Given the description of an element on the screen output the (x, y) to click on. 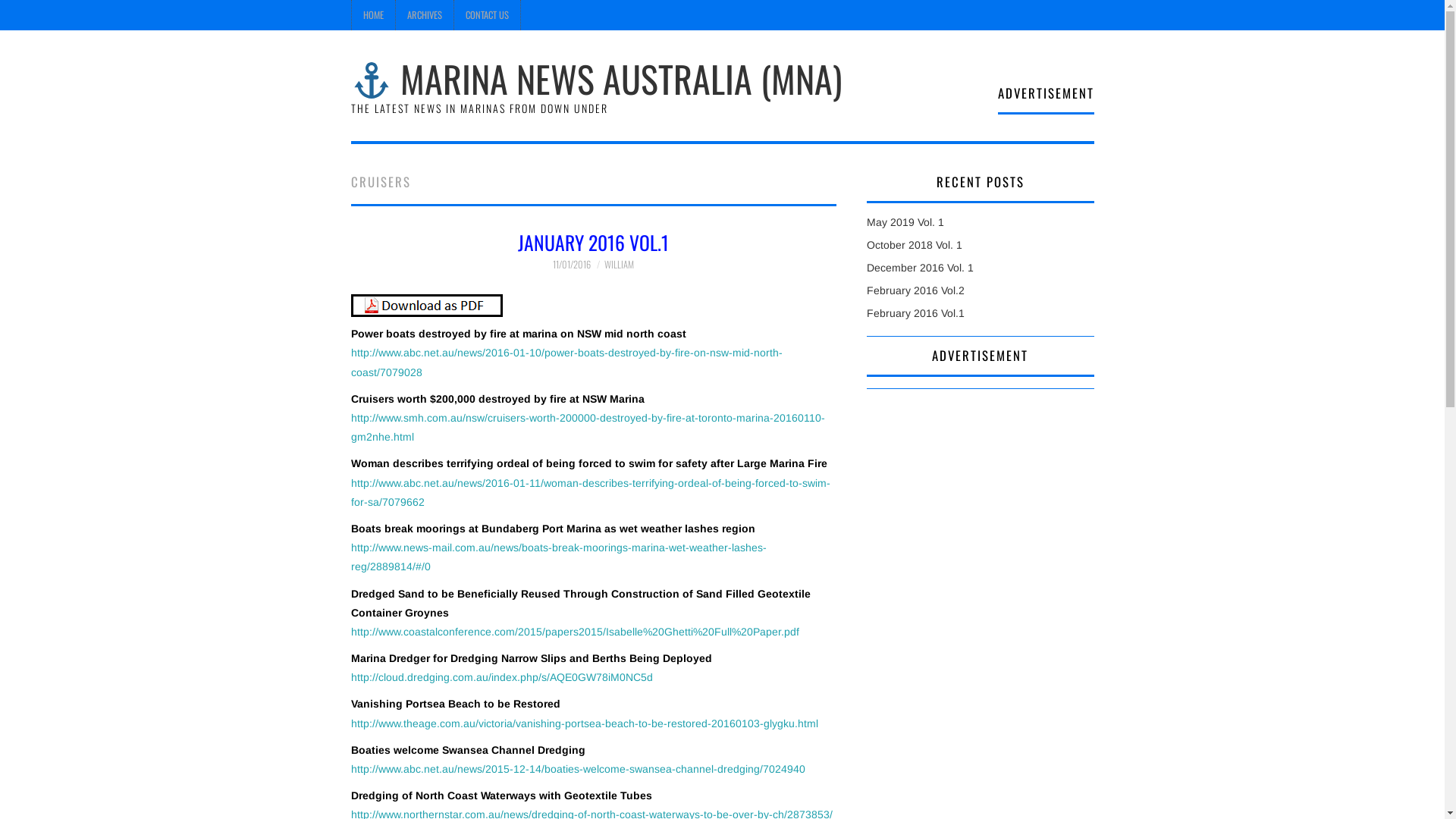
CONTACT US Element type: text (486, 15)
December 2016 Vol. 1 Element type: text (919, 267)
October 2018 Vol. 1 Element type: text (913, 244)
http://cloud.dredging.com.au/index.php/s/AQE0GW78iM0NC5d Element type: text (501, 677)
11/01/2016 Element type: text (571, 264)
February 2016 Vol.2 Element type: text (914, 290)
May 2019 Vol. 1 Element type: text (904, 222)
February 2016 Vol.1 Element type: text (914, 313)
HOME Element type: text (373, 15)
JANUARY 2016 VOL.1 Element type: text (592, 241)
MARINA NEWS AUSTRALIA (MNA) Element type: text (595, 78)
ARCHIVES Element type: text (424, 15)
Download PDF Element type: hover (426, 304)
WILLIAM Element type: text (618, 264)
